Given the description of an element on the screen output the (x, y) to click on. 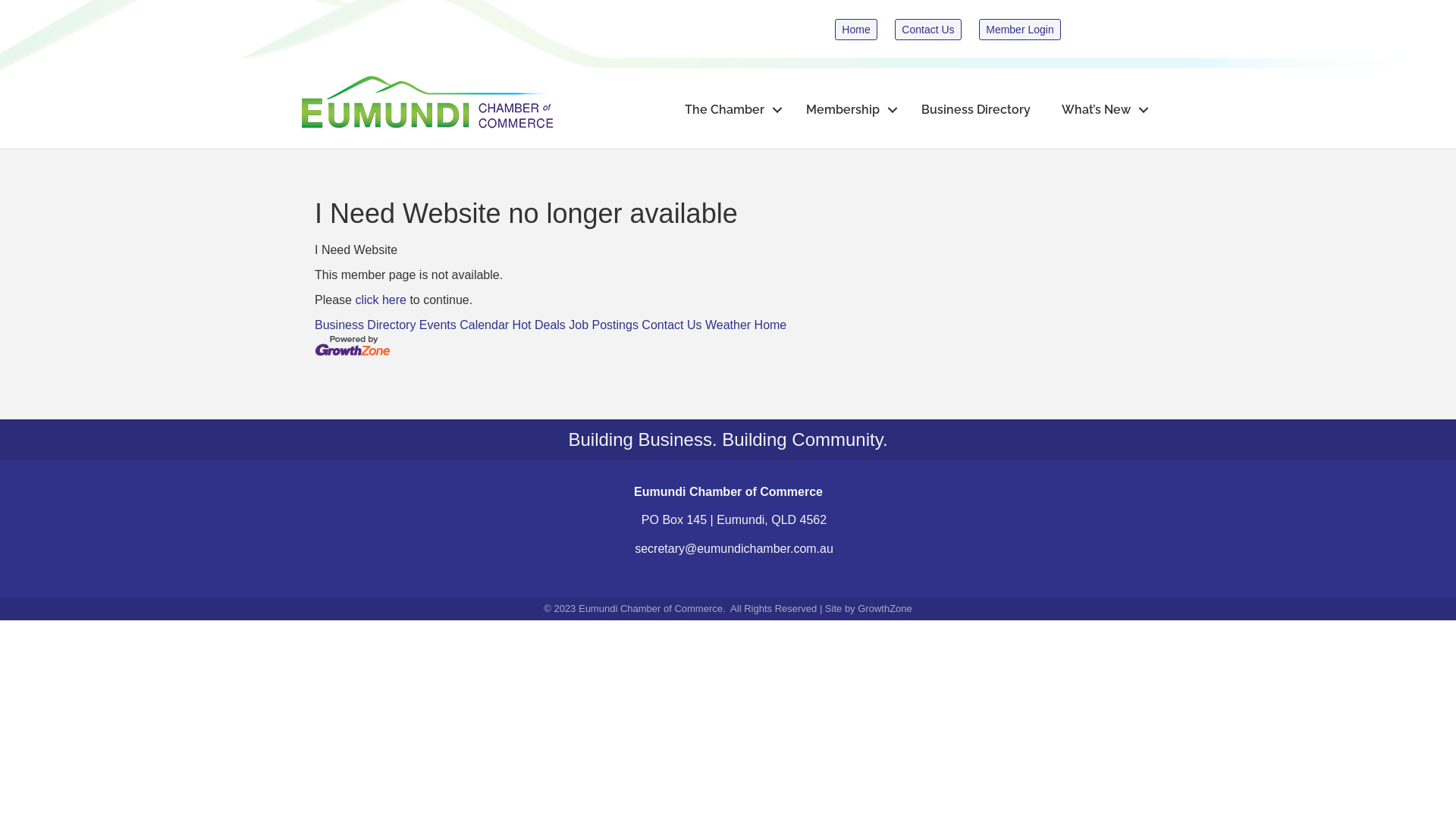
Events Calendar Element type: text (463, 324)
Business Directory Element type: text (364, 324)
Home Element type: text (770, 324)
Job Postings Element type: text (603, 324)
Hot Deals Element type: text (538, 324)
Membership Element type: text (847, 109)
Contact Us Element type: text (671, 324)
click here Element type: text (380, 299)
eumundi-chamber-logo-md2 Element type: hover (428, 101)
Weather Element type: text (727, 324)
secretary@eumundichamber.com.au Element type: text (733, 548)
Member Login Element type: text (1019, 29)
Business Directory Element type: text (975, 109)
Contact Us Element type: text (927, 29)
GrowthZone Element type: text (884, 608)
The Chamber Element type: text (729, 109)
Home Element type: text (855, 29)
